Given the description of an element on the screen output the (x, y) to click on. 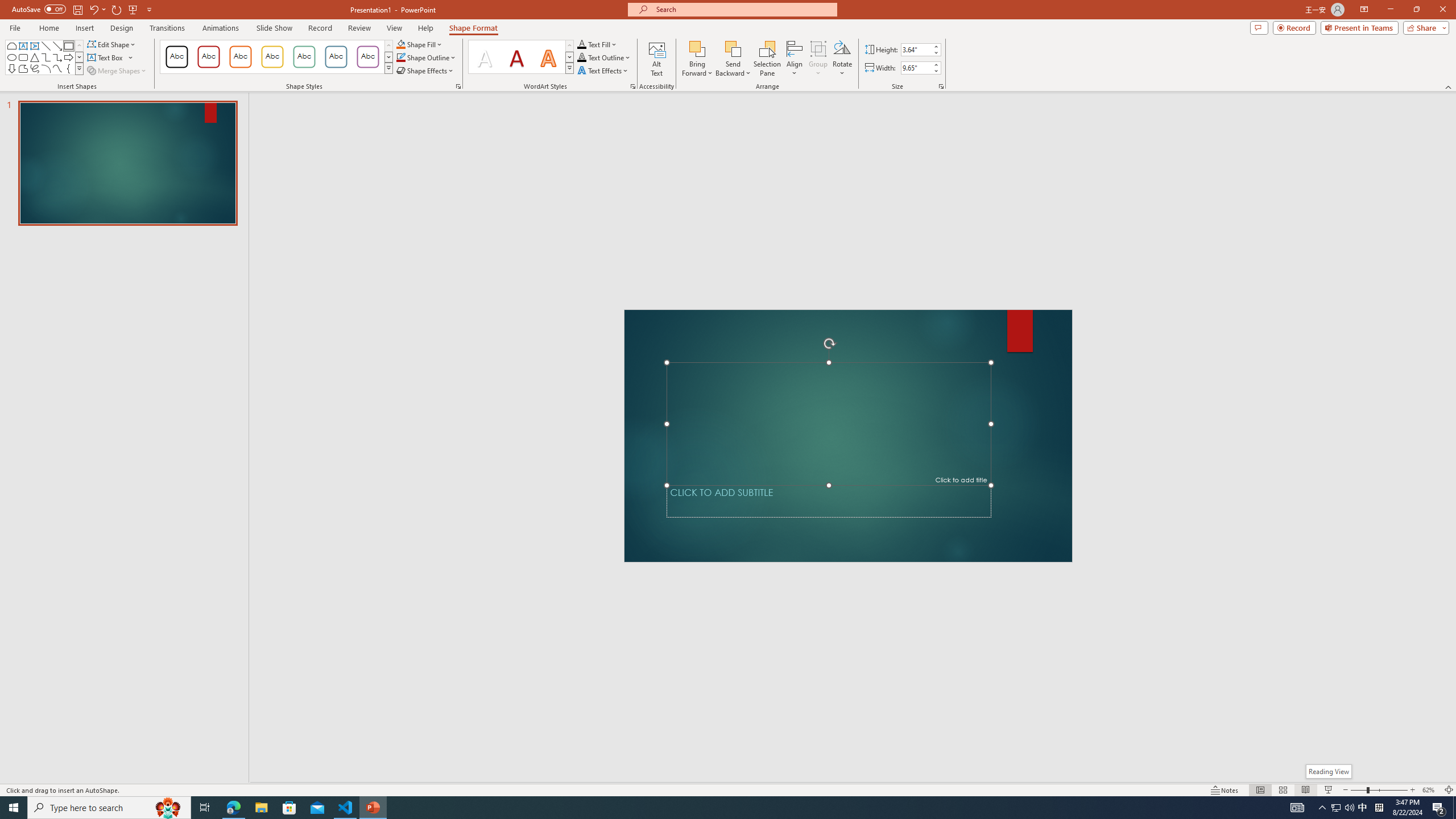
Text Fill RGB(0, 0, 0) (581, 44)
Rectangle: Top Corners Snipped (11, 45)
Curve (57, 68)
Class: MsoCommandBar (728, 789)
Alt Text (656, 58)
Send Backward (733, 58)
Selection Pane... (767, 58)
Class: NetUIImage (569, 68)
Colored Outline - Purple, Accent 6 (368, 56)
